Given the description of an element on the screen output the (x, y) to click on. 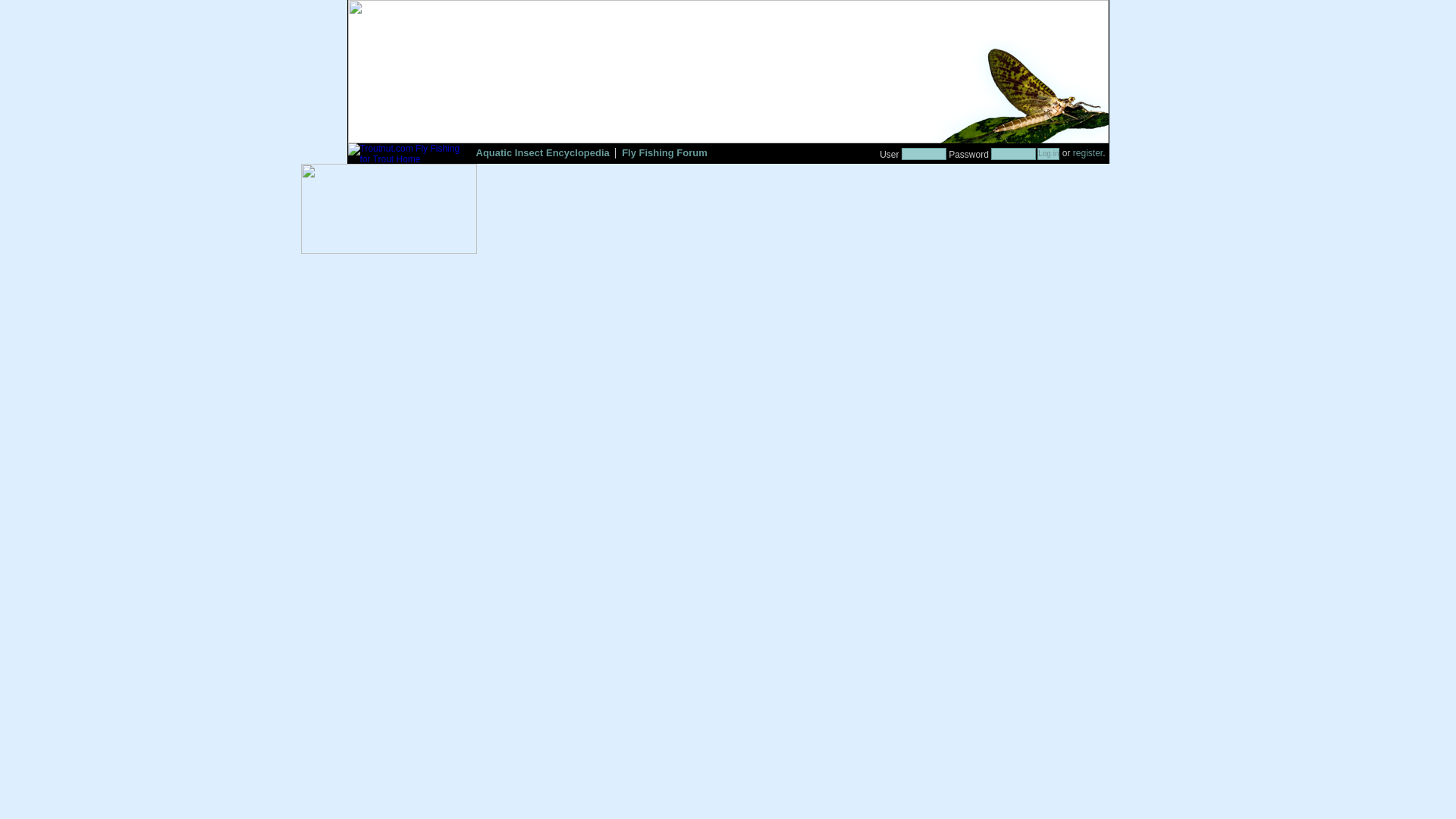
Fly fishing discussion forum (664, 155)
Log in (1047, 152)
Fly Fishing Forum (664, 155)
Log in (1047, 152)
Illustrated encyclopedia of fly hatches (543, 155)
Aquatic Insect Encyclopedia (543, 155)
register (1087, 153)
